Given the description of an element on the screen output the (x, y) to click on. 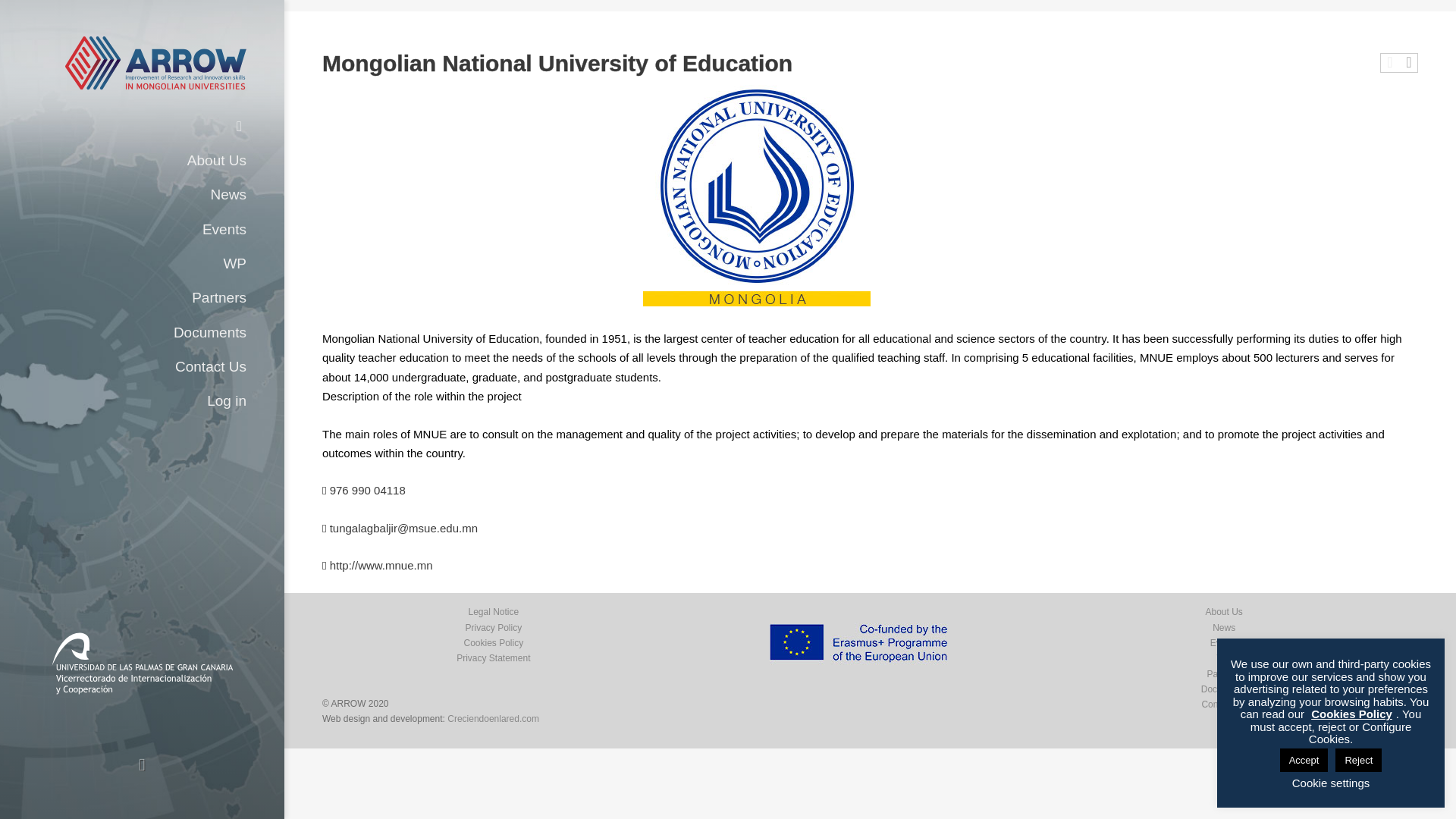
WP (1222, 657)
Events (141, 229)
976 990 04118 (368, 490)
Contact Us (1223, 704)
About Us (141, 160)
Partners (141, 298)
Events (1224, 643)
Privacy Policy (492, 627)
WP (141, 263)
Legal Notice (492, 611)
Documents (141, 332)
Log in (141, 401)
Cookies Policy (492, 643)
Partners (1223, 674)
About Us (1223, 611)
